Given the description of an element on the screen output the (x, y) to click on. 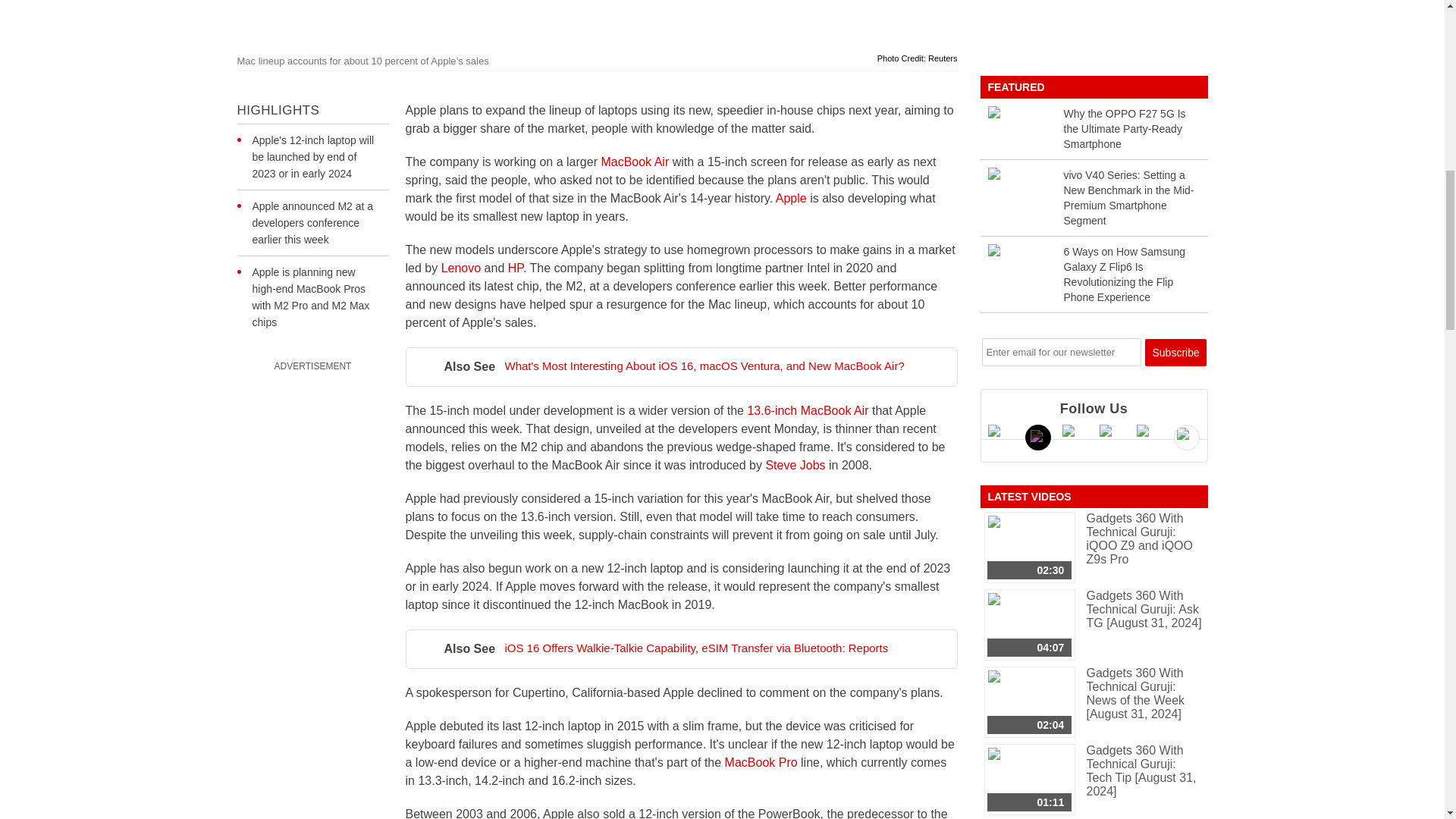
Steve Jobs (795, 464)
MacBook Air (633, 161)
Apple (791, 197)
Lenovo (462, 267)
MacBook Pro (762, 762)
13.6-inch MacBook Air (806, 410)
Subscribe (1175, 351)
